Given the description of an element on the screen output the (x, y) to click on. 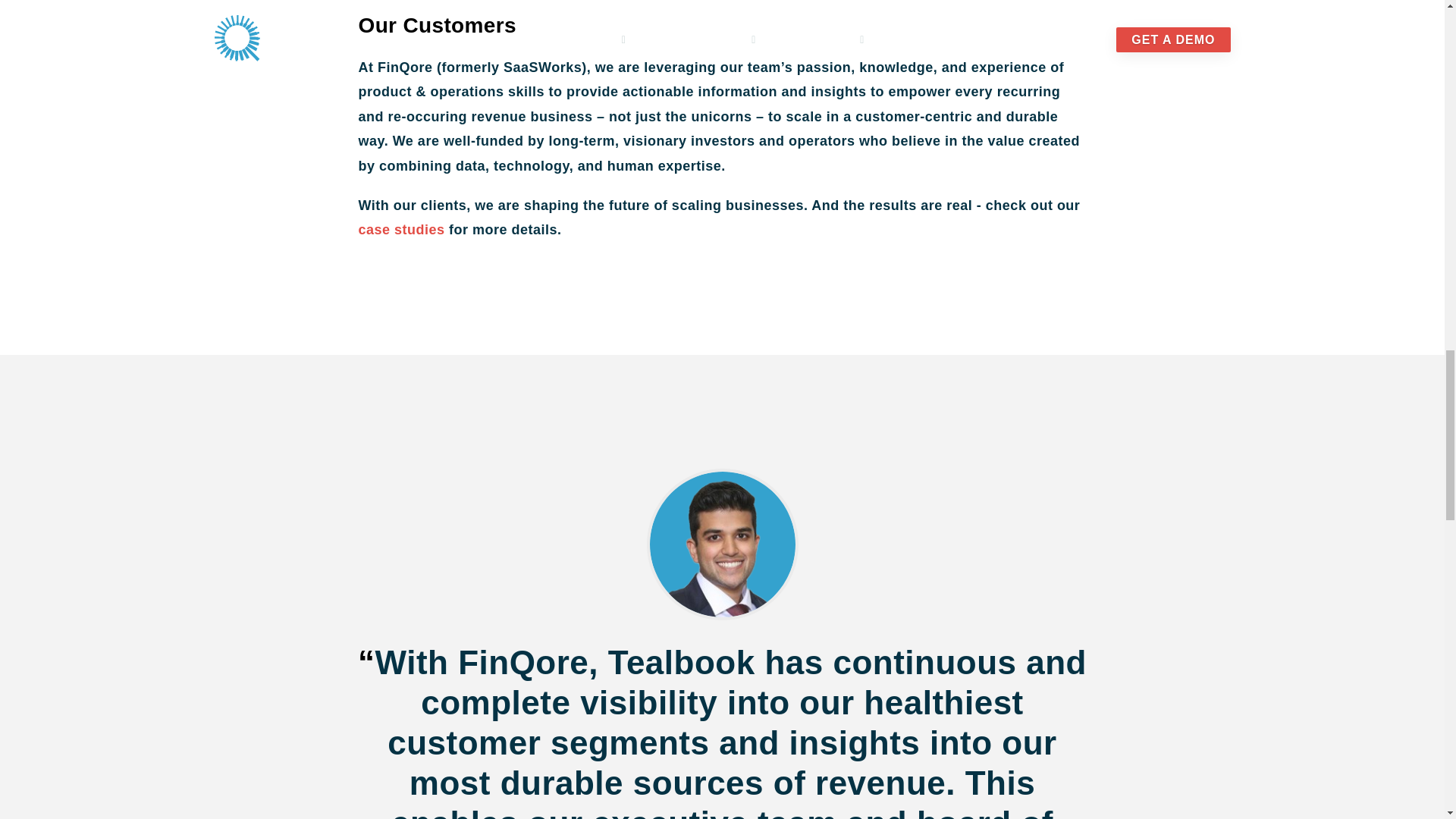
case studies (401, 229)
